Given the description of an element on the screen output the (x, y) to click on. 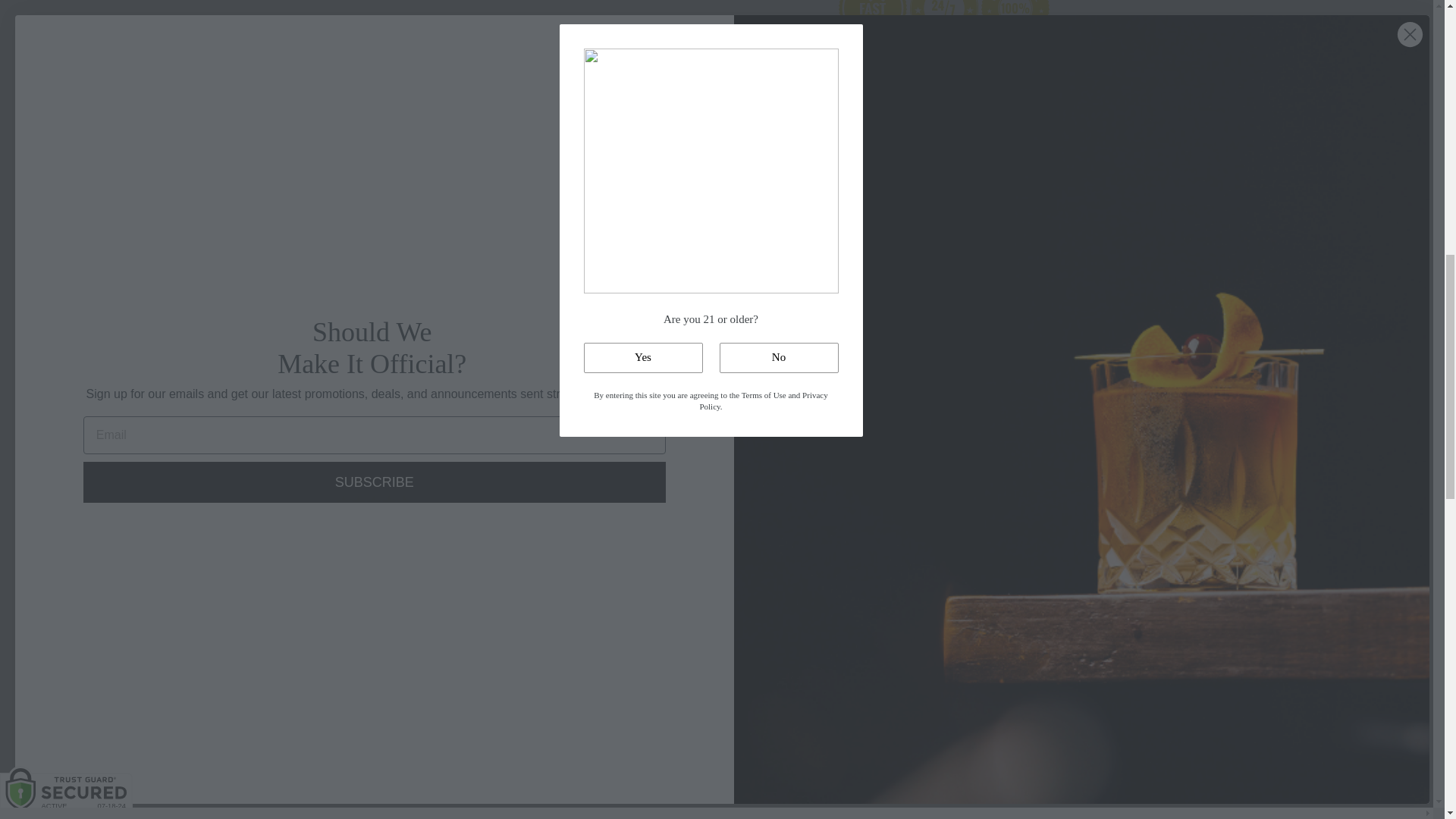
Sort Reviews (603, 814)
